Given the description of an element on the screen output the (x, y) to click on. 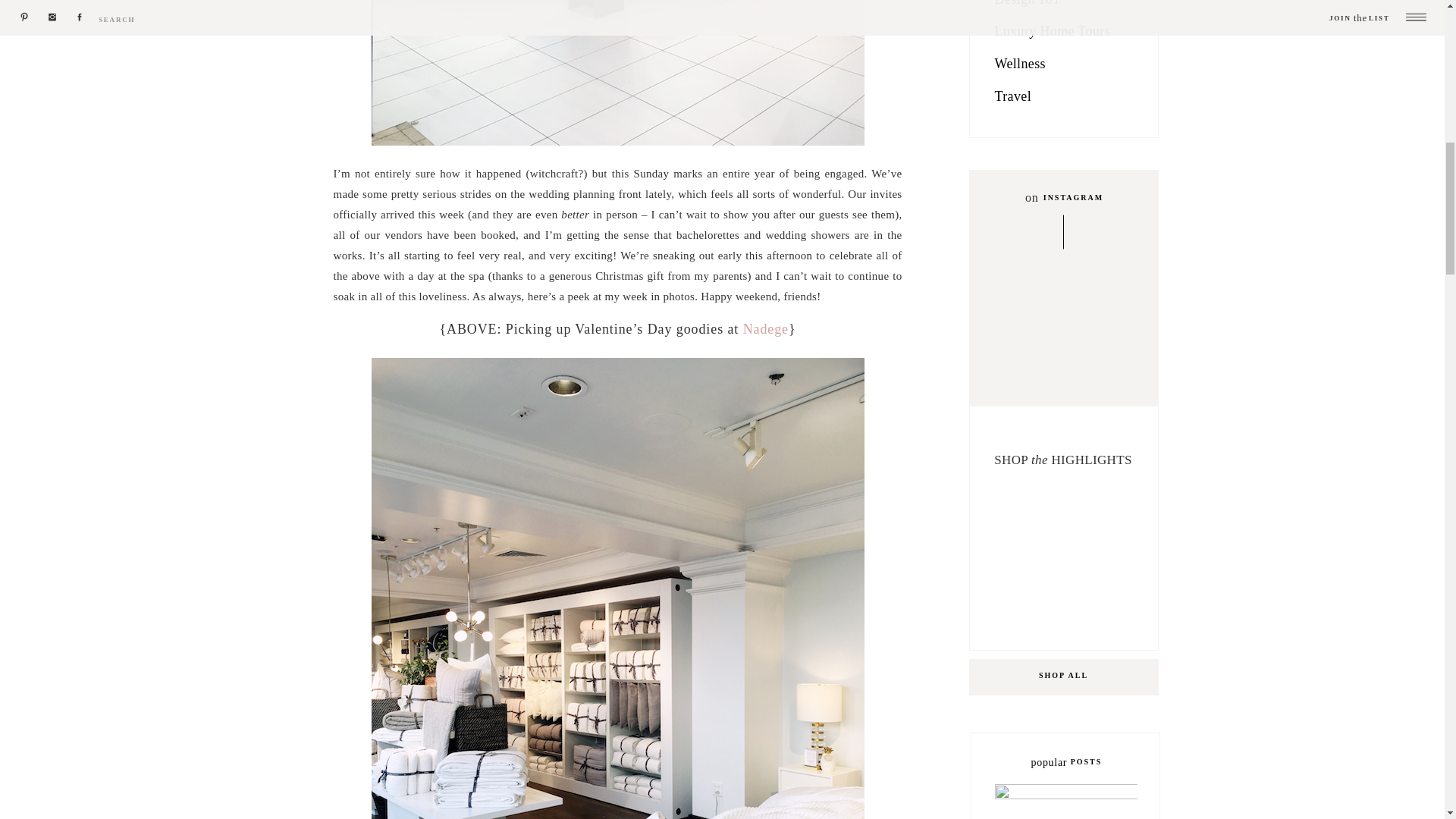
INSTAGRAM (1073, 198)
SHOP ALL (1063, 676)
Travel (1067, 99)
Luxury Home Tours (1067, 33)
on (1029, 195)
Wellness (1067, 66)
Design 101 (1056, 7)
